Given the description of an element on the screen output the (x, y) to click on. 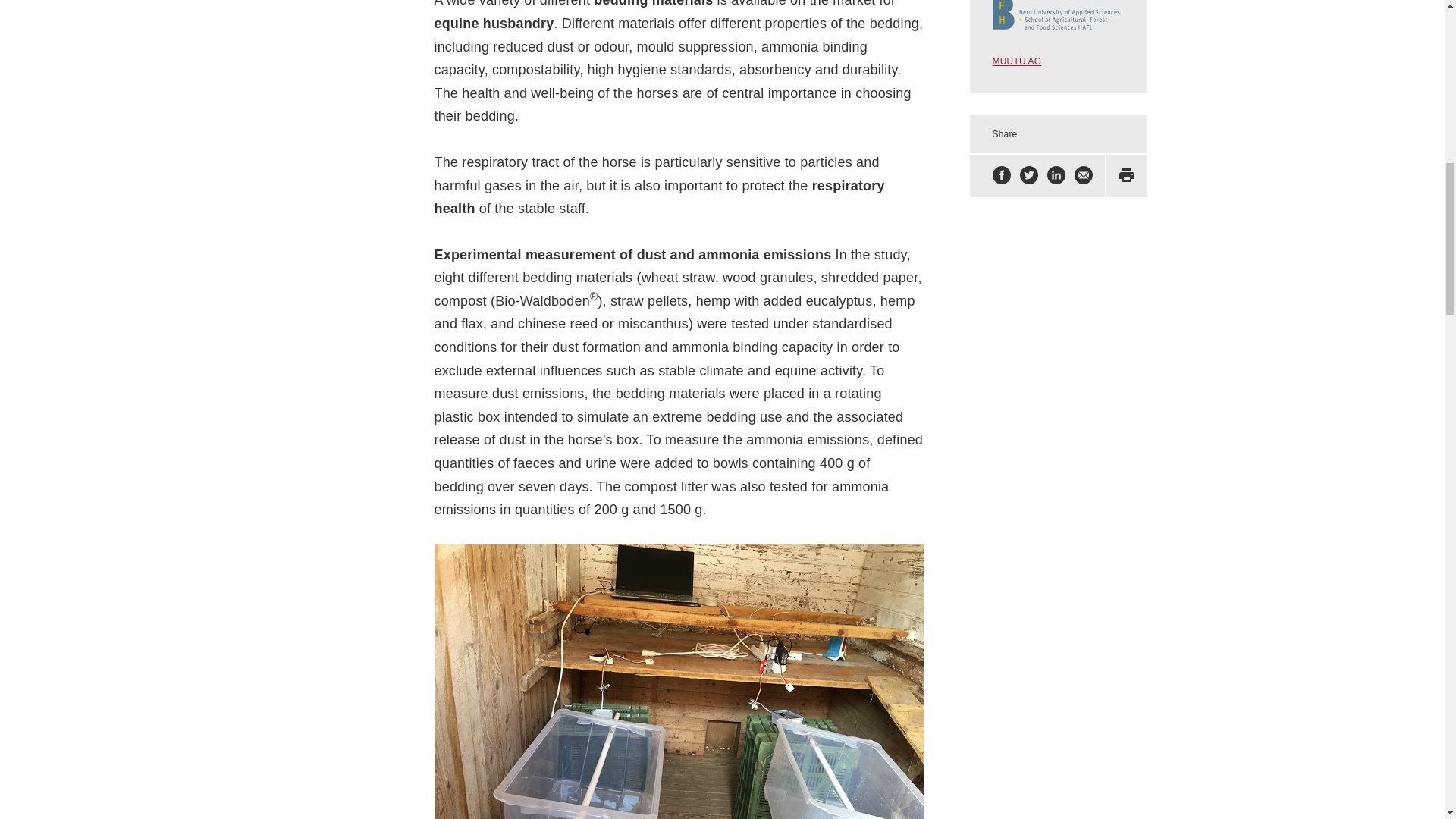
Share on Facebook (1001, 175)
MUUTU AG (1017, 61)
Share on LinkedIn (1055, 175)
www.muutu.ch (1017, 61)
Print this article (1126, 175)
Share by e-mail (1083, 175)
Download this article as a PDF (1126, 175)
Share on Facebook (1001, 175)
Share by e-mail (1083, 175)
Share on Twitter (1029, 175)
